Given the description of an element on the screen output the (x, y) to click on. 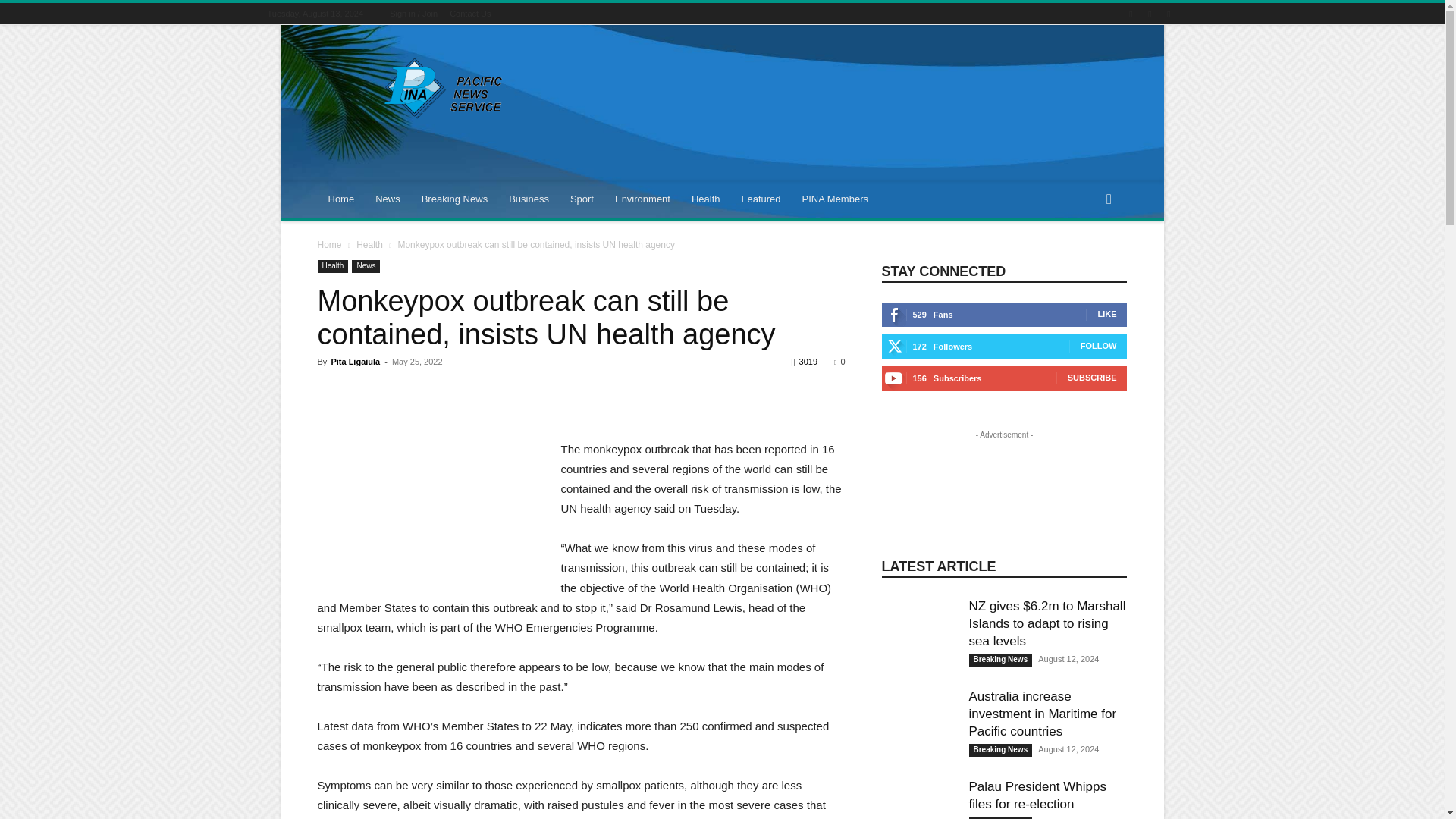
Contact Us (469, 13)
Pacific Islands News Association (445, 88)
Home (341, 198)
News (387, 198)
